Given the description of an element on the screen output the (x, y) to click on. 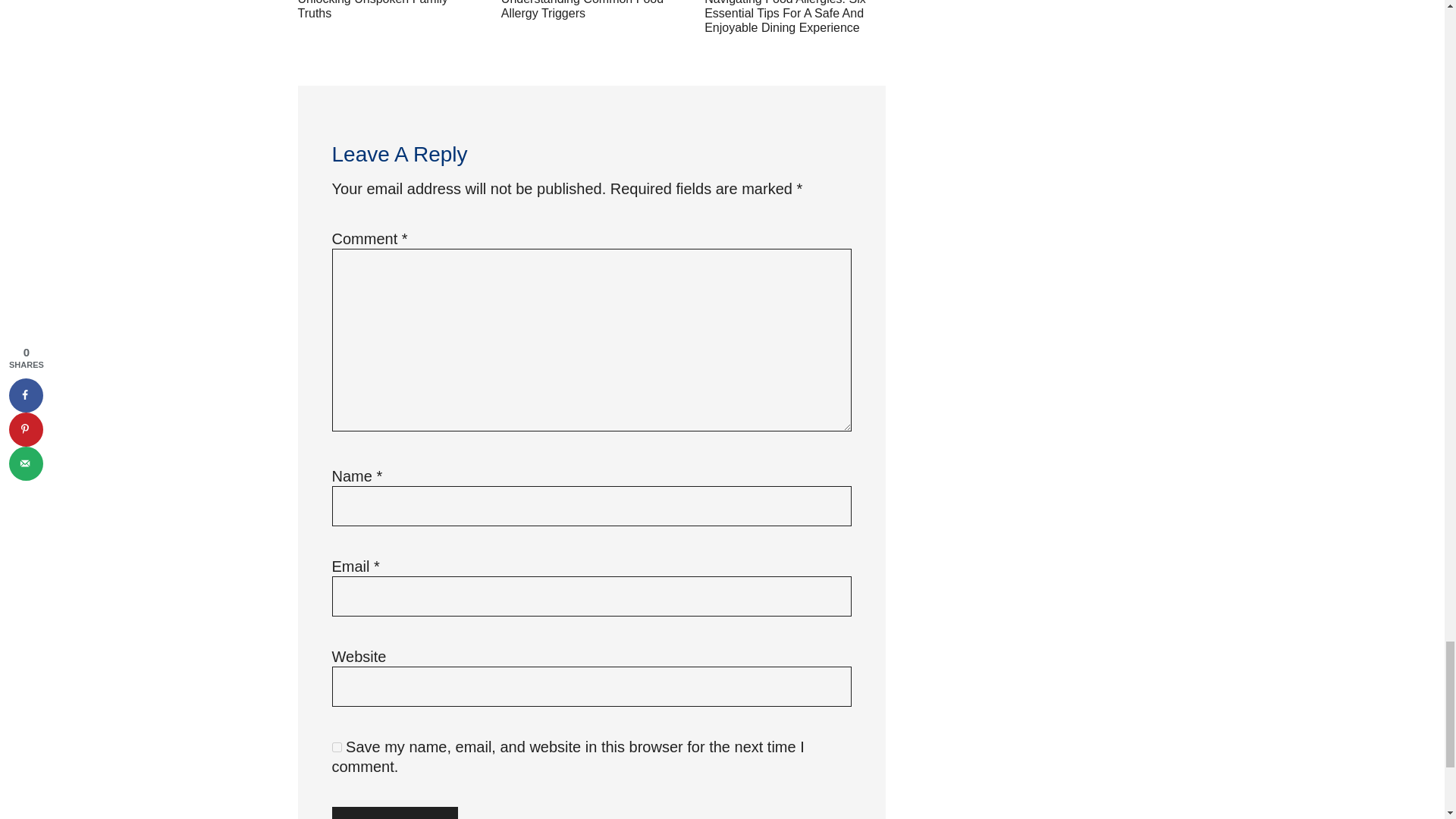
Unlocking Unspoken Family Truths (371, 9)
Post Comment (394, 812)
Understanding Common Food Allergy Triggers (581, 9)
yes (336, 747)
